Given the description of an element on the screen output the (x, y) to click on. 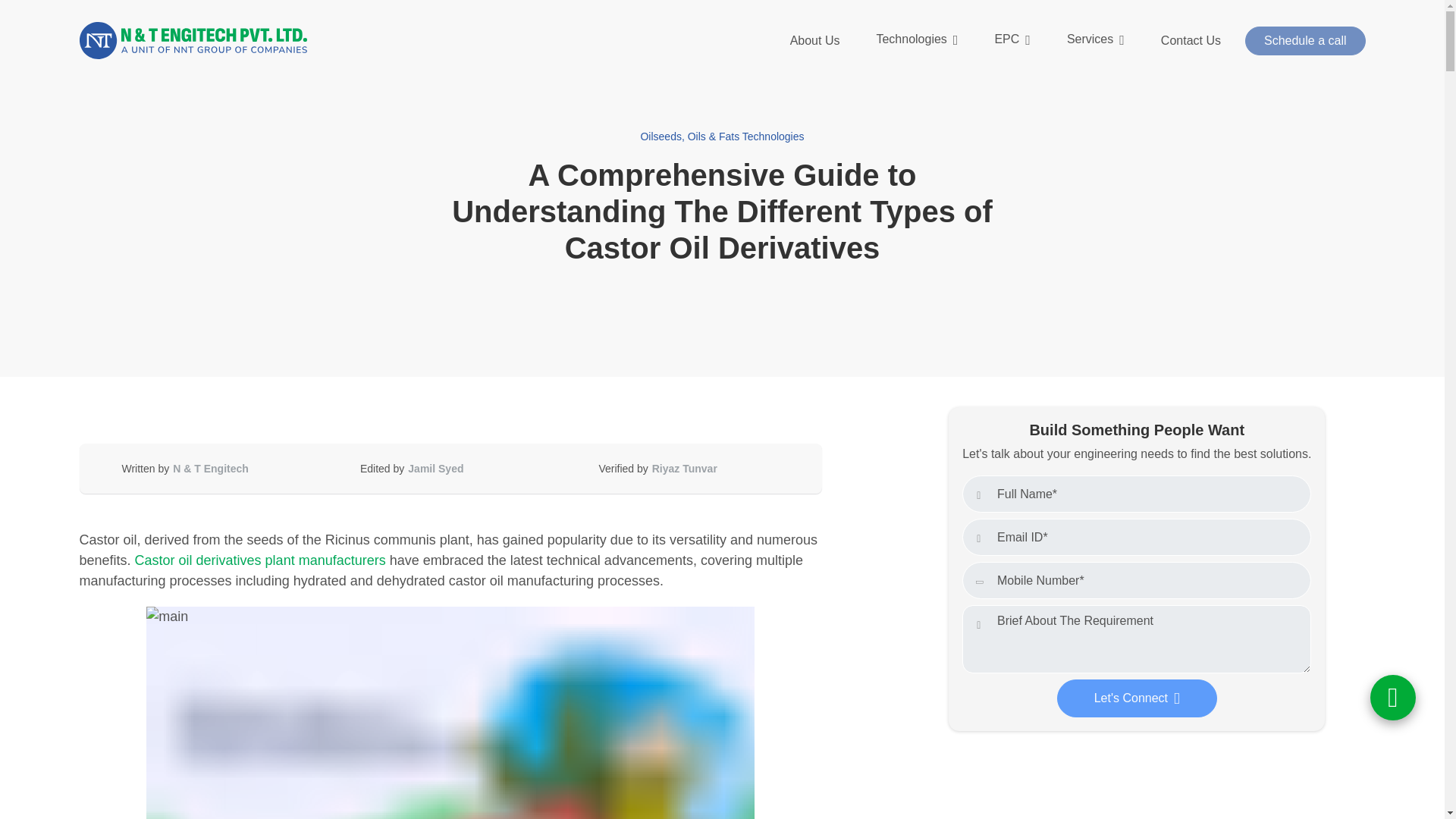
Technologies (916, 40)
EPC (1011, 40)
Let's Connect (1137, 698)
Castor oil derivatives plant manufacturers (260, 560)
Services (1095, 40)
About Us (815, 40)
Contact Us (1190, 40)
Riyaz Tunvar (683, 468)
Schedule a call (1304, 40)
Jamil Syed (435, 468)
